Given the description of an element on the screen output the (x, y) to click on. 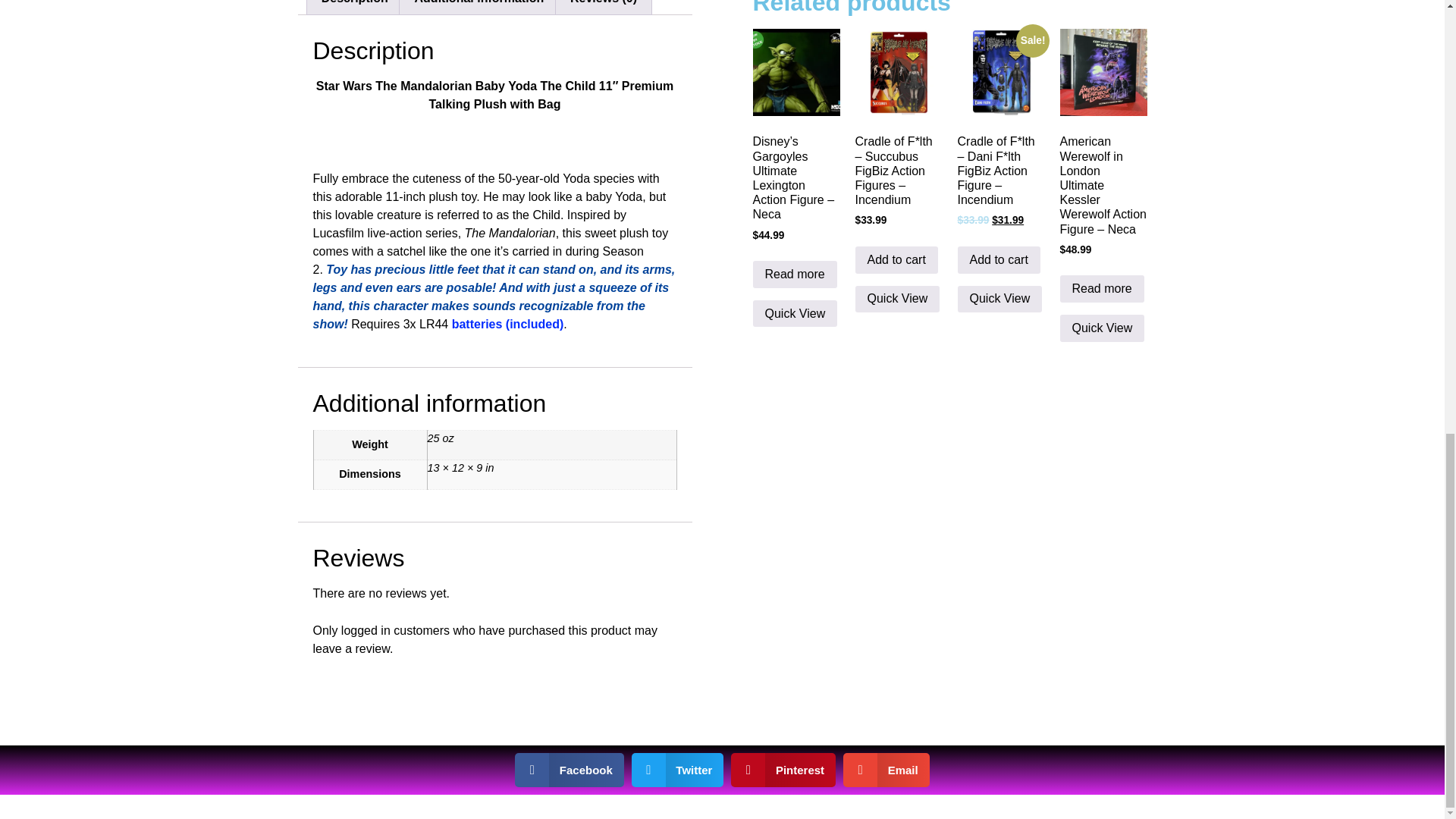
Quick View (1101, 328)
Quick View (794, 313)
Add to cart (896, 259)
Description (353, 7)
Read more (793, 274)
Quick View (898, 298)
Additional information (477, 7)
Add to cart (997, 259)
Read more (1101, 288)
Quick View (999, 298)
